Given the description of an element on the screen output the (x, y) to click on. 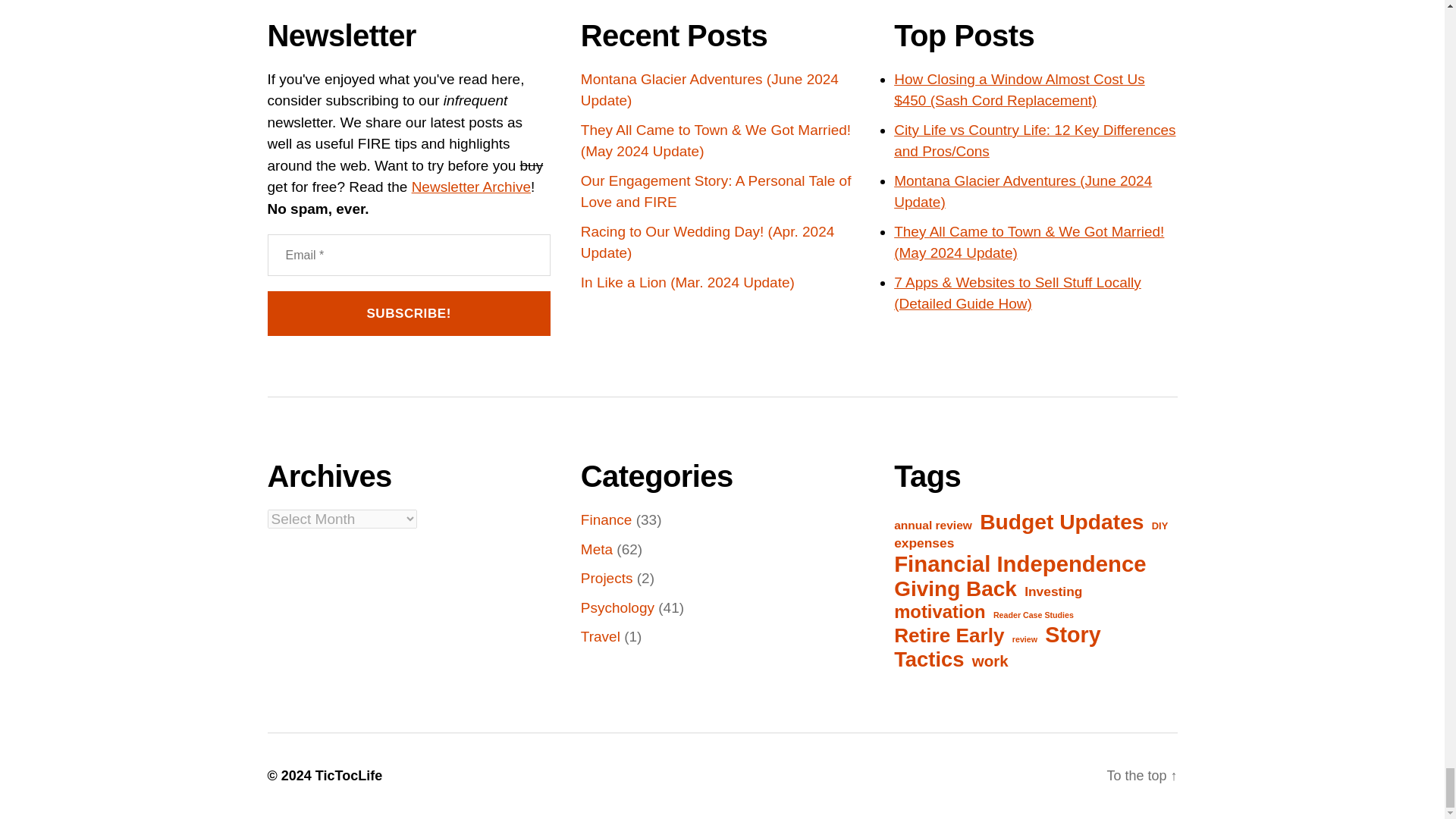
Subscribe! (408, 313)
Email (408, 255)
